Given the description of an element on the screen output the (x, y) to click on. 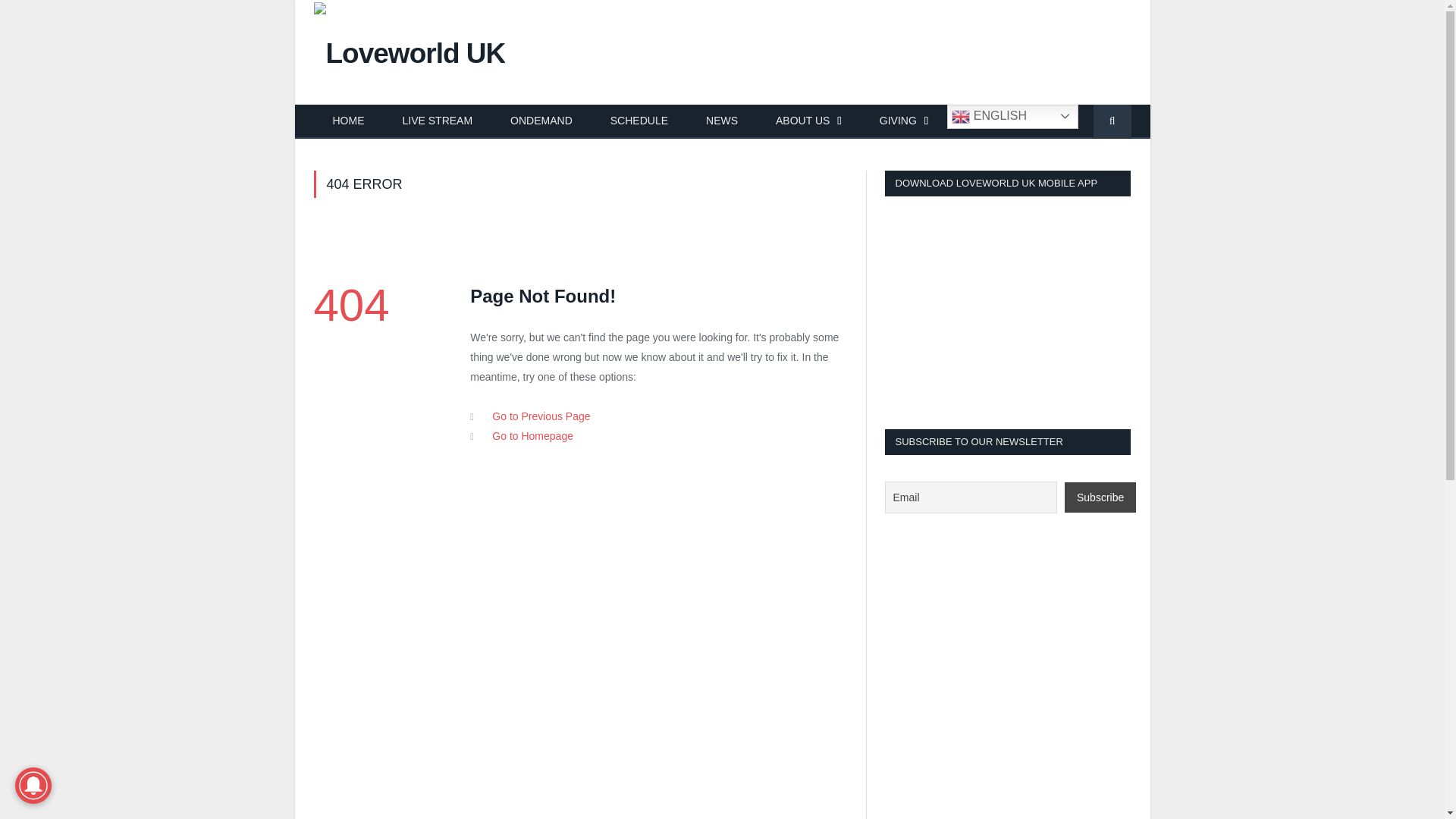
ENGLISH (1012, 116)
Subscribe (1099, 497)
Search (1112, 121)
NEWS (722, 121)
GIVING (903, 121)
HOME (349, 121)
ONDEMAND (541, 121)
LIVE STREAM (438, 121)
SCHEDULE (639, 121)
ABOUT US (808, 121)
